Given the description of an element on the screen output the (x, y) to click on. 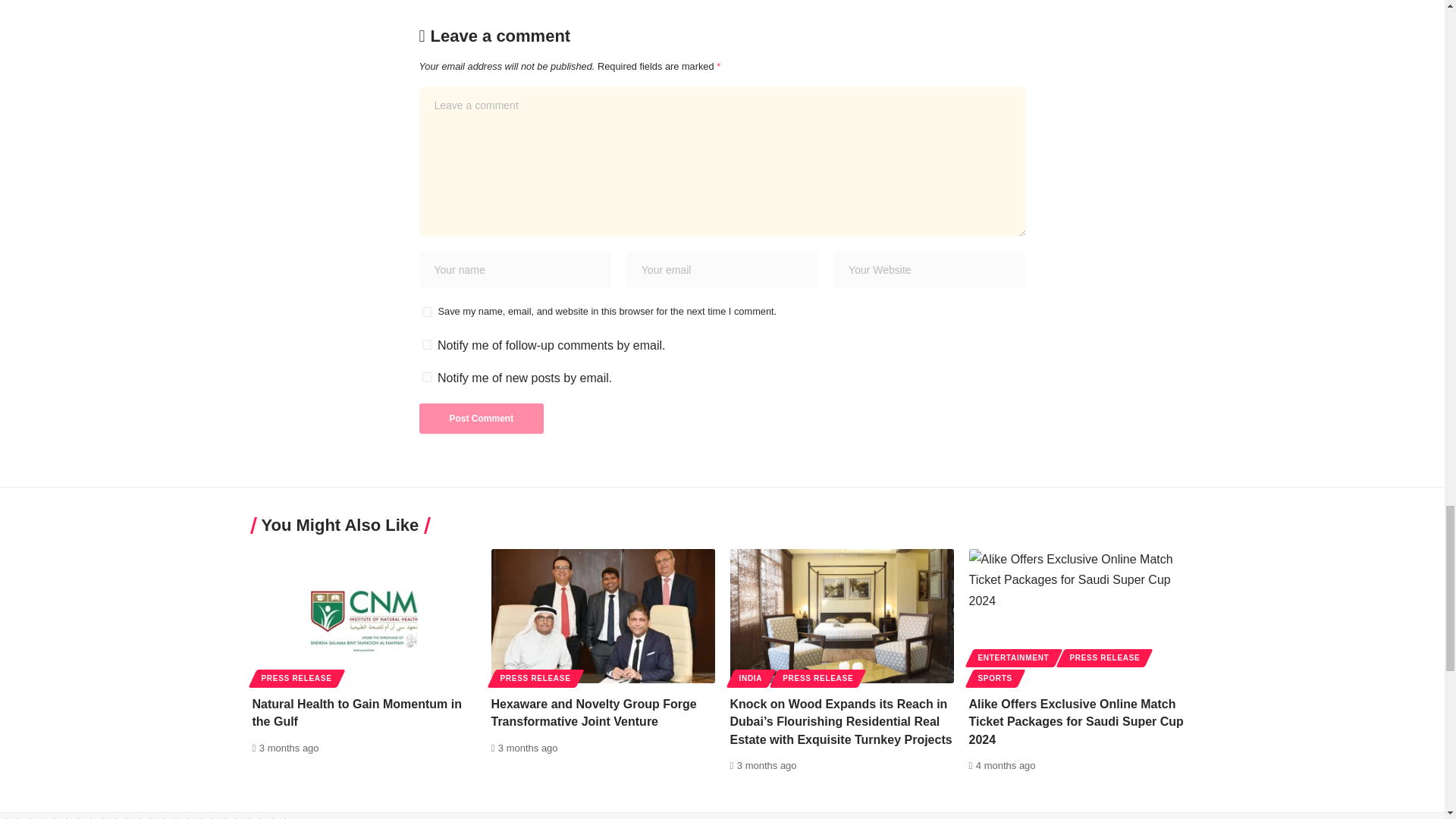
subscribe (426, 377)
Post Comment (481, 418)
subscribe (426, 344)
yes (426, 311)
